Given the description of an element on the screen output the (x, y) to click on. 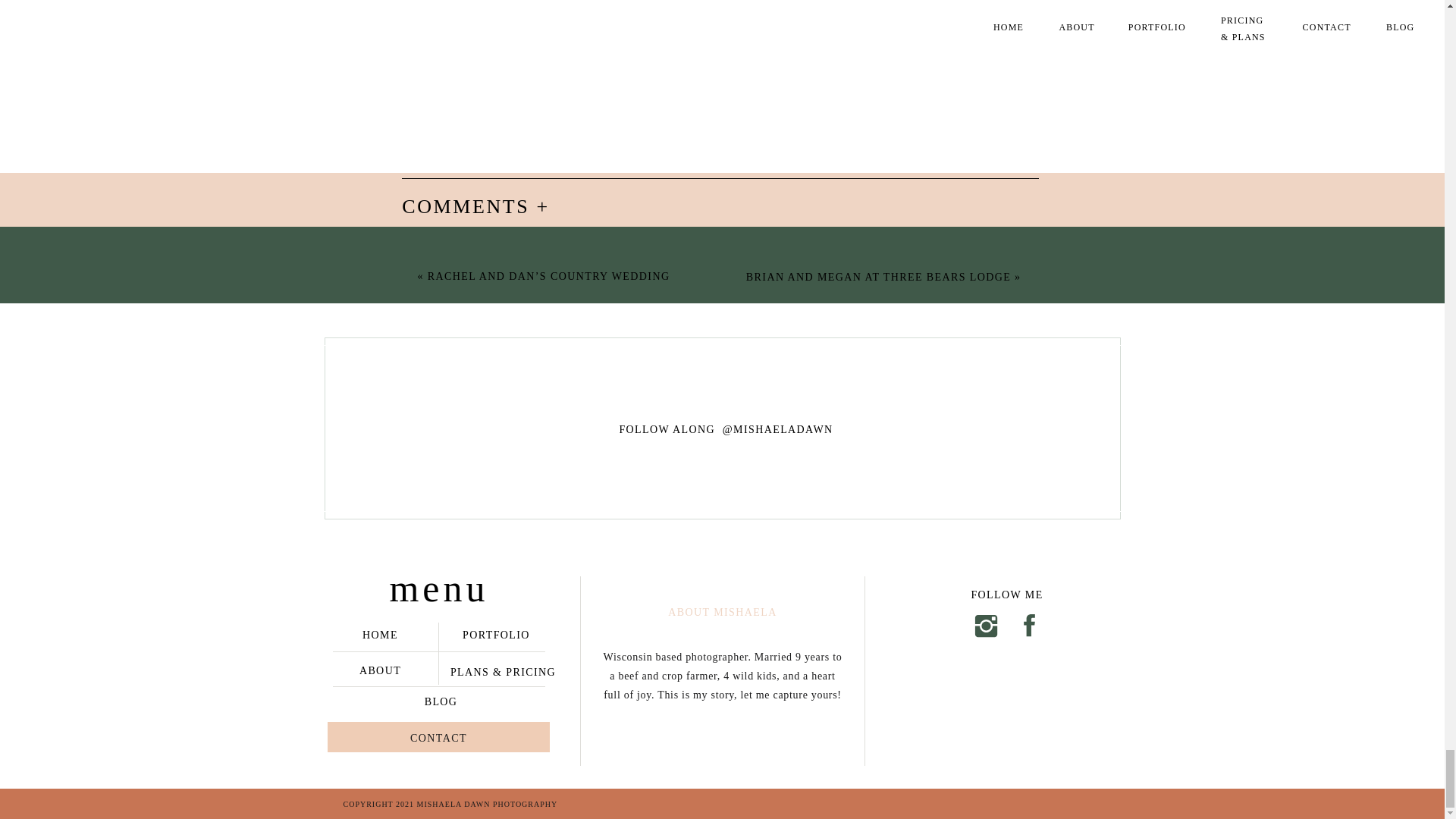
CONTACT (439, 737)
BLOG (441, 700)
PORTFOLIO (495, 633)
ABOUT (380, 669)
COPYRIGHT 2021 MISHAELA DAWN PHOTOGRAPHY (456, 803)
HOME (380, 633)
ABOUT MISHAELA (721, 610)
BRIAN AND MEGAN AT THREE BEARS LODGE (877, 276)
